Given the description of an element on the screen output the (x, y) to click on. 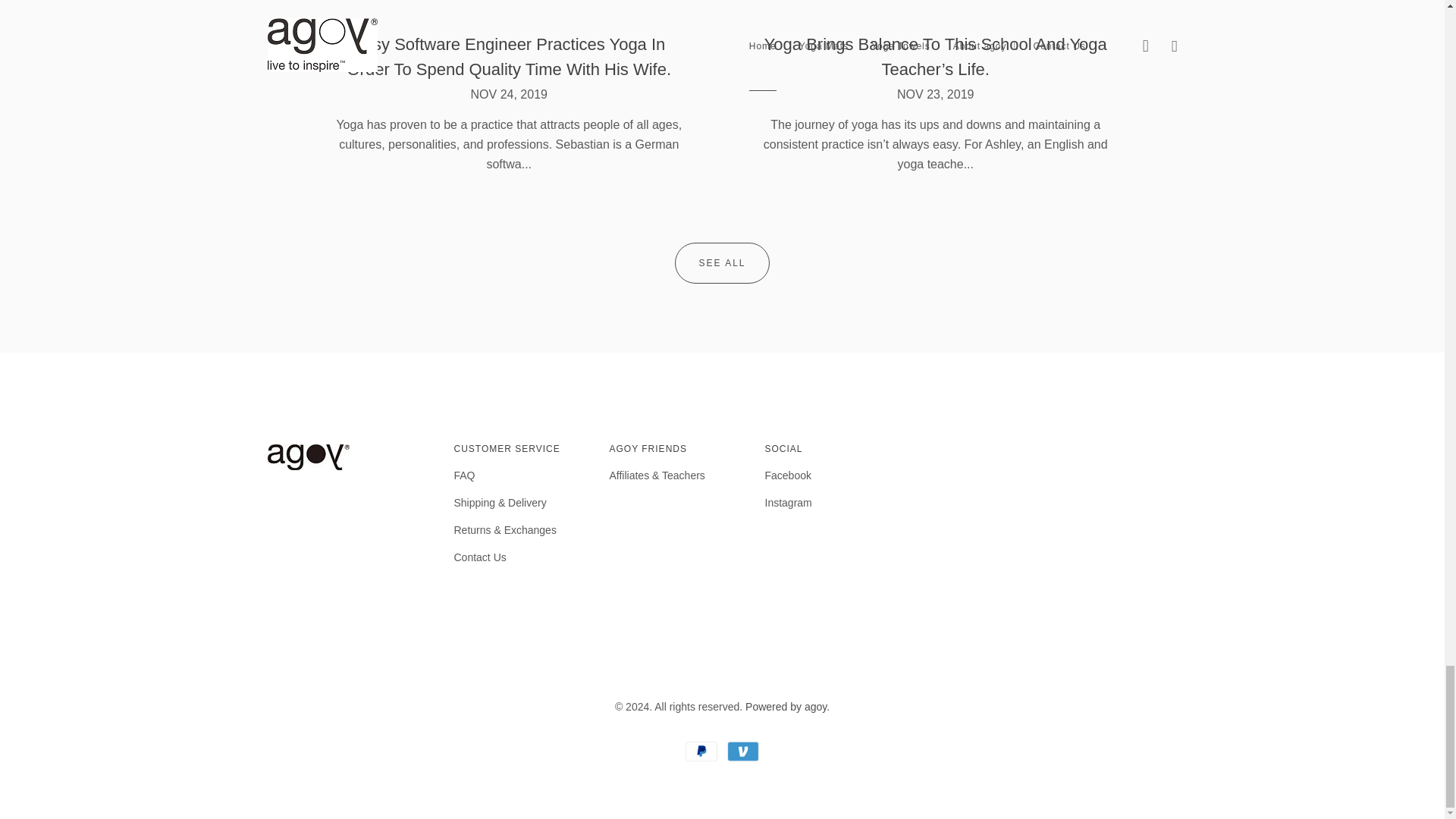
Venmo (742, 751)
Facebook (787, 475)
FAQ (463, 475)
SEE ALL (721, 262)
Instagram (787, 502)
PayPal (701, 751)
